Given the description of an element on the screen output the (x, y) to click on. 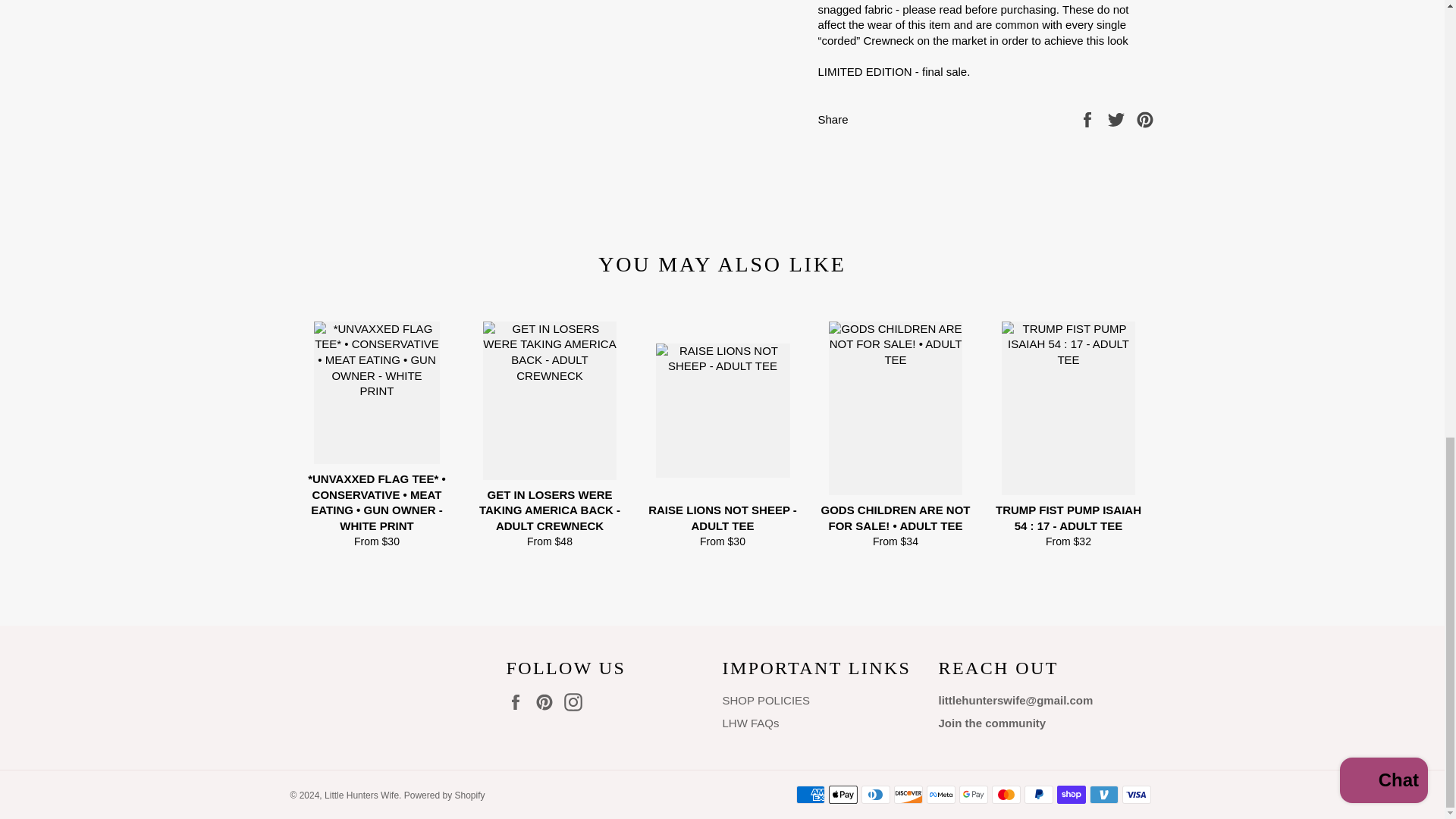
Little Hunters Wife on Instagram (576, 701)
Tweet on Twitter (1117, 118)
Pin on Pinterest (1144, 118)
Share on Facebook (1088, 118)
Little Hunters Wife on Facebook (519, 701)
Little Hunters Wife on Pinterest (547, 701)
